Given the description of an element on the screen output the (x, y) to click on. 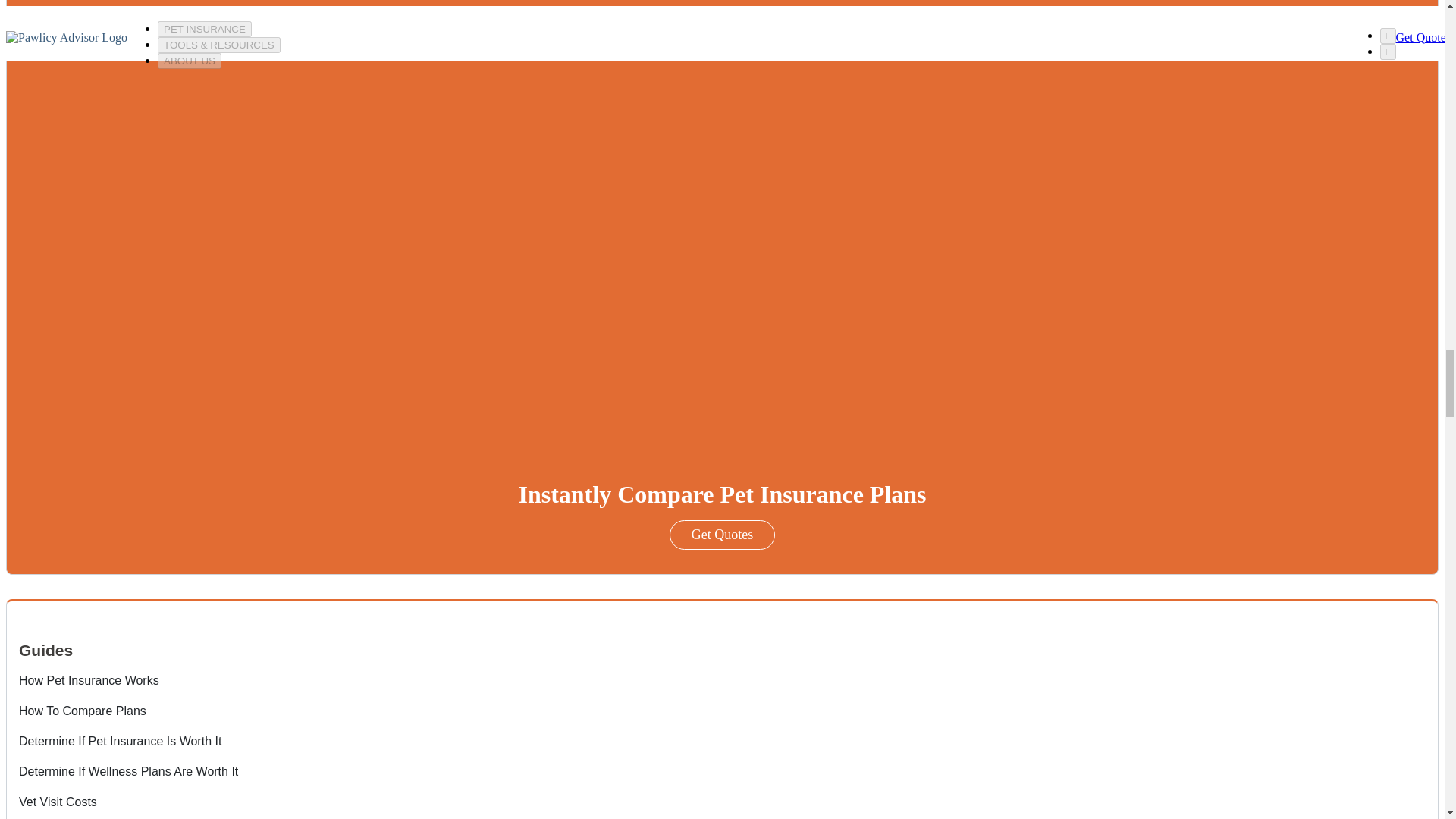
Get Quotes (721, 534)
Vet Visit Costs (57, 801)
Determine If Wellness Plans Are Worth It (128, 771)
How Pet Insurance Works (88, 680)
How To Compare Plans (82, 710)
Determine If Pet Insurance Is Worth It (119, 740)
